Given the description of an element on the screen output the (x, y) to click on. 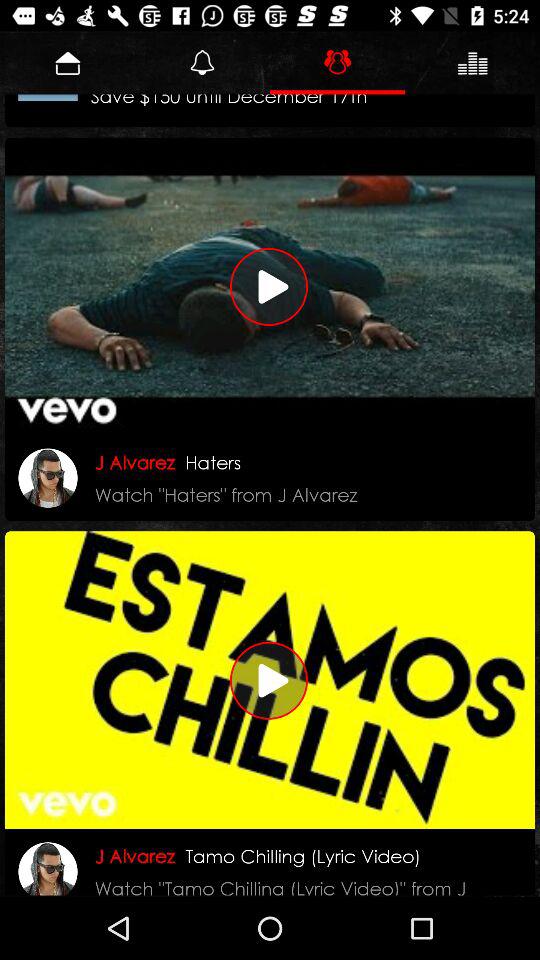
video player (269, 286)
